Given the description of an element on the screen output the (x, y) to click on. 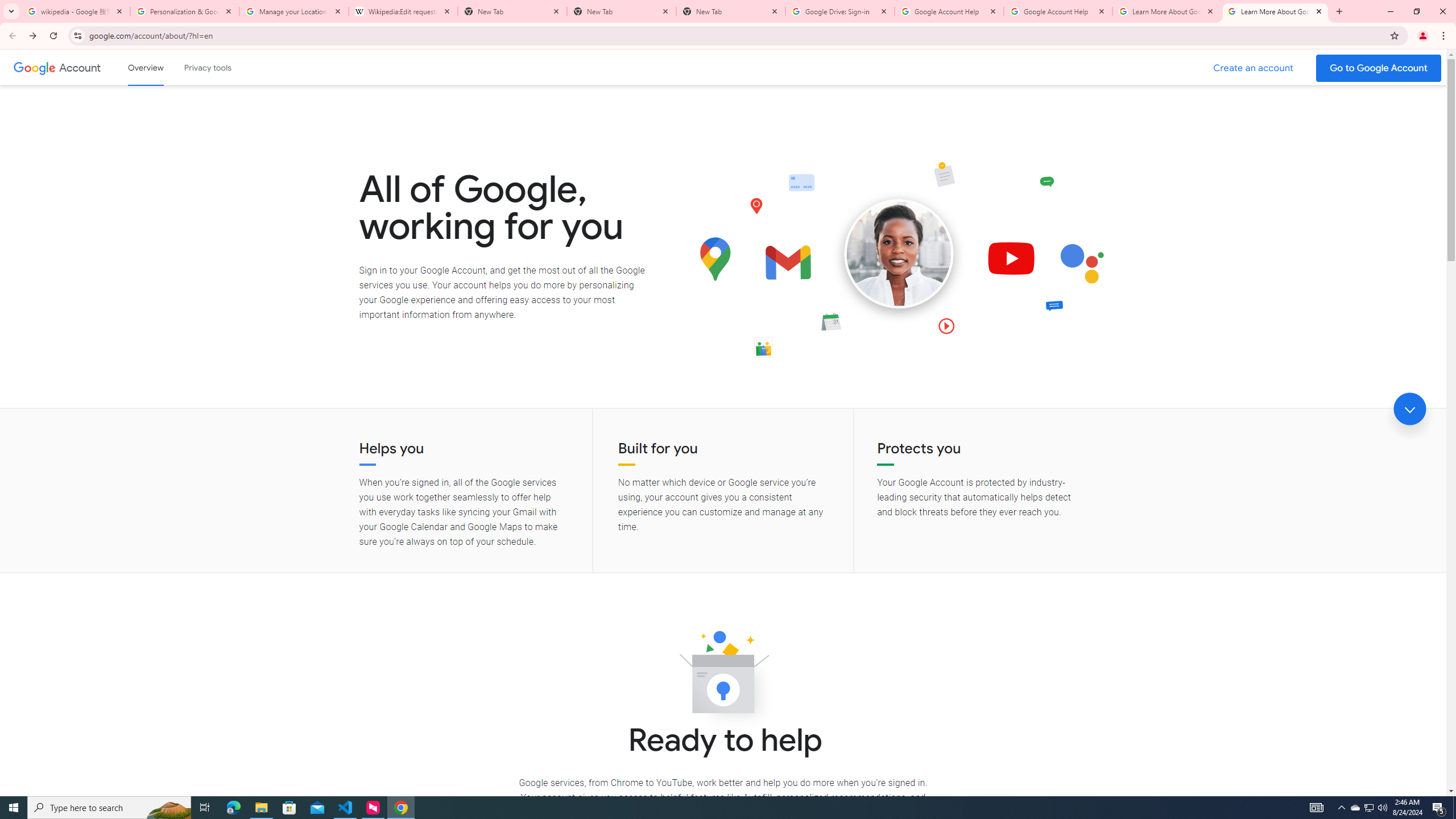
New Tab (730, 11)
Create a Google Account (1253, 67)
Go to your Google Account (1378, 67)
New Tab (621, 11)
Skip to Content (162, 65)
Wikipedia:Edit requests - Wikipedia (403, 11)
Jump link (1409, 408)
Google Drive: Sign-in (839, 11)
